Given the description of an element on the screen output the (x, y) to click on. 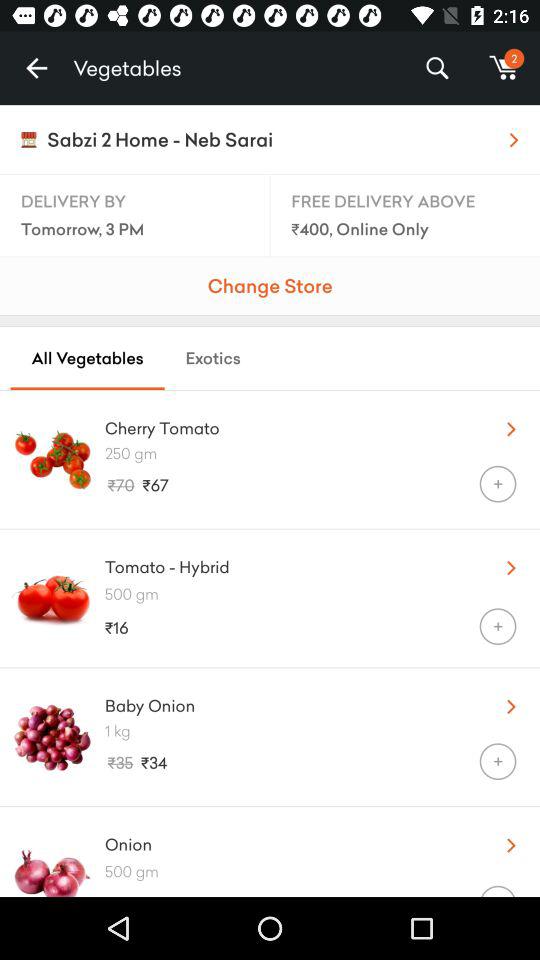
launch icon below u item (322, 453)
